Given the description of an element on the screen output the (x, y) to click on. 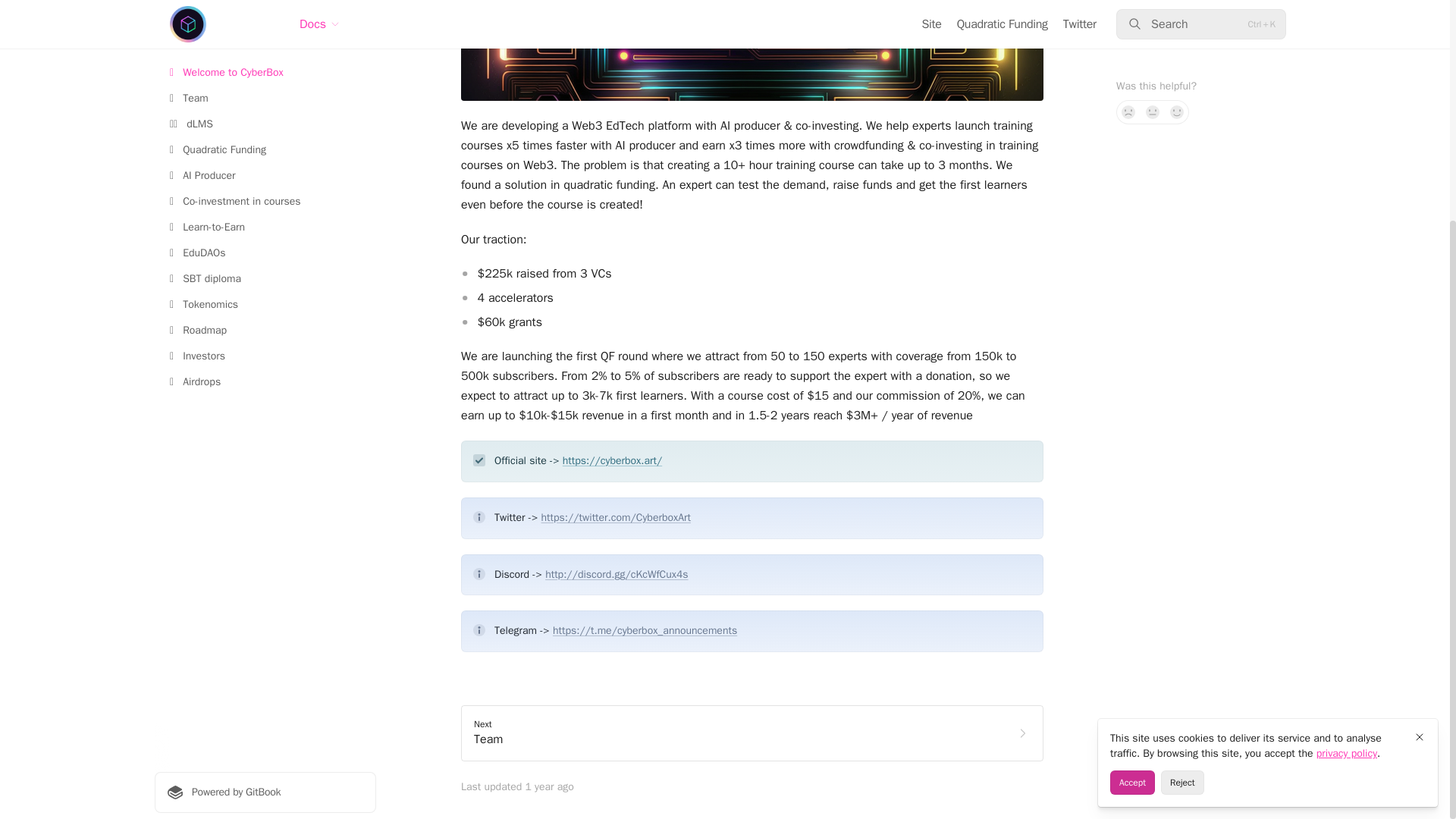
Powered by GitBook (752, 733)
Close (264, 490)
